Given the description of an element on the screen output the (x, y) to click on. 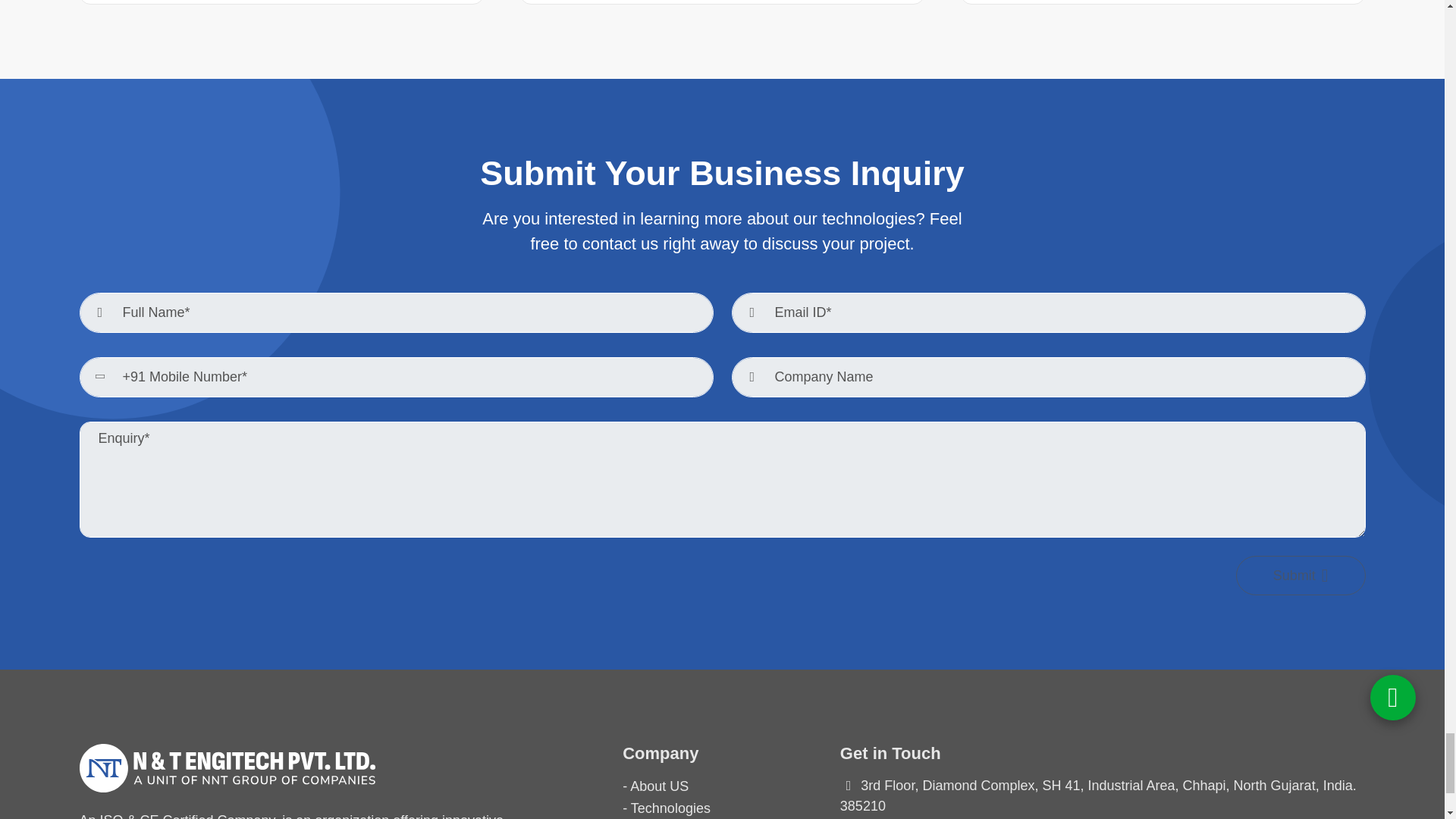
- About US (655, 786)
Submit (1300, 575)
- Technologies (666, 808)
